Given the description of an element on the screen output the (x, y) to click on. 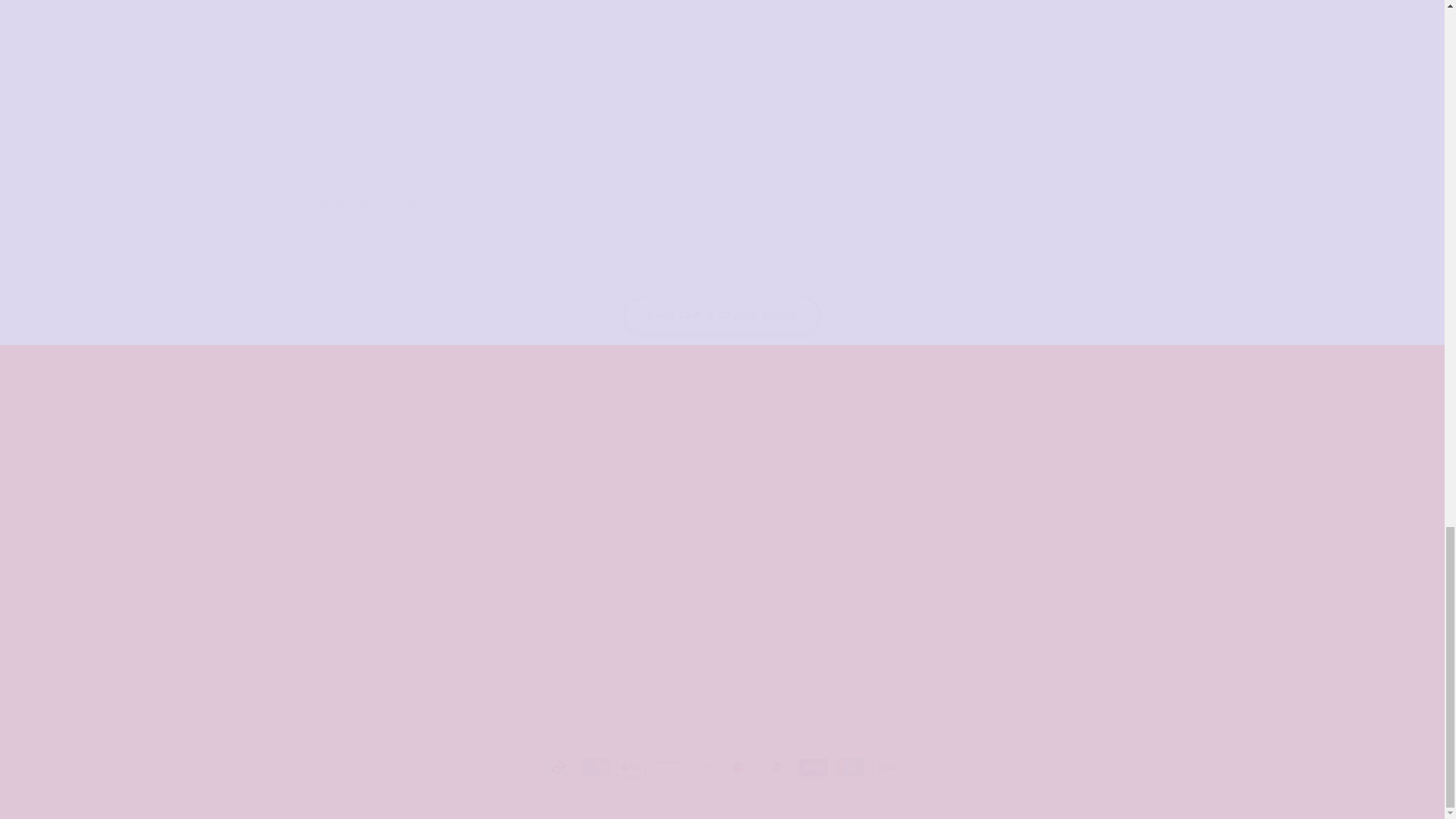
Back to A-Z Crystal Guide (722, 314)
Contact (721, 668)
About (666, 533)
